Given the description of an element on the screen output the (x, y) to click on. 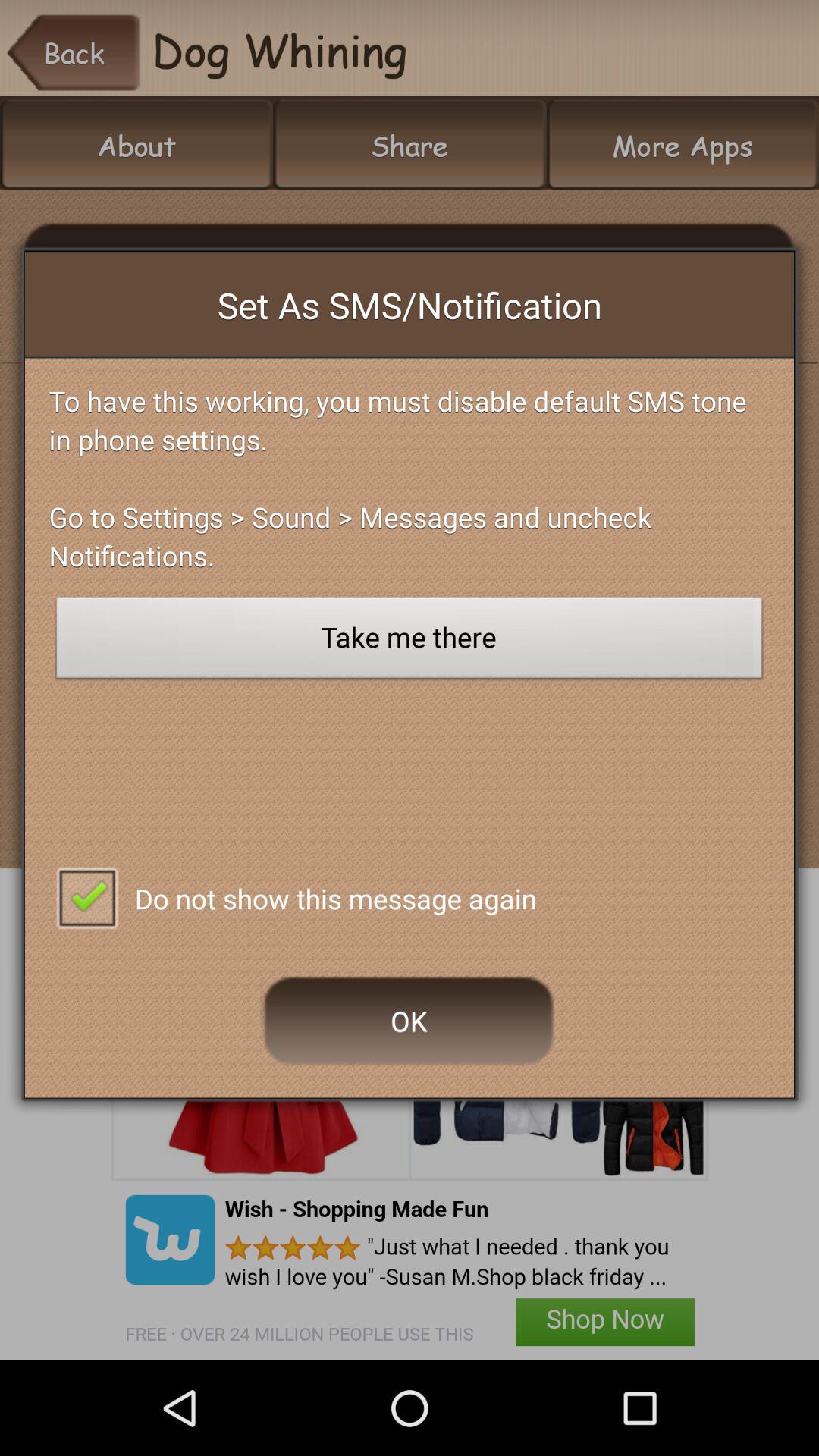
check yes on do not show me this again (86, 896)
